Given the description of an element on the screen output the (x, y) to click on. 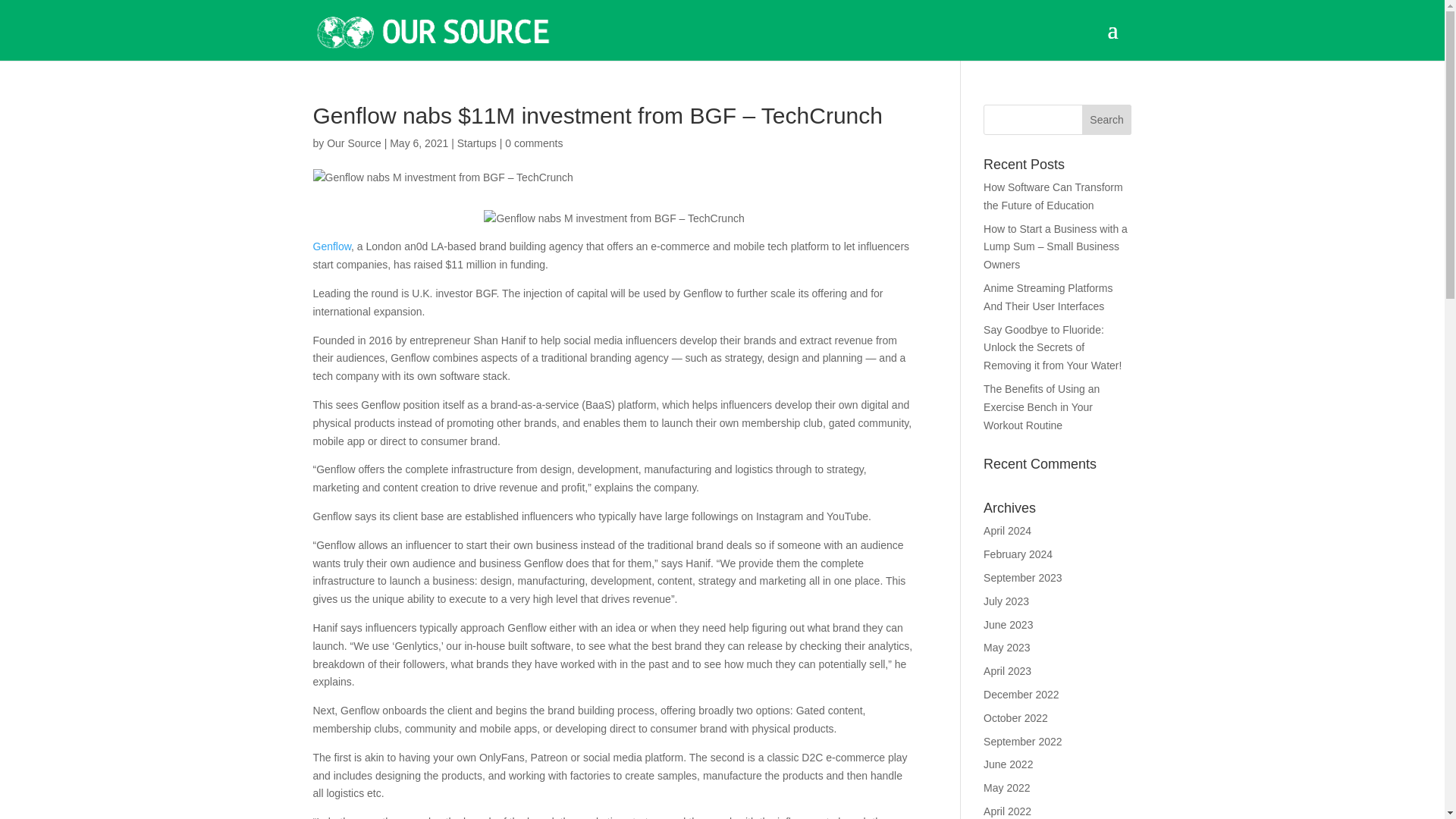
Search (1106, 119)
May 2023 (1006, 647)
February 2024 (1018, 553)
Our Source (353, 143)
December 2022 (1021, 694)
Anime Streaming Platforms And Their User Interfaces (1048, 296)
September 2023 (1023, 577)
Search (1106, 119)
0 comments (533, 143)
April 2024 (1007, 530)
April 2023 (1007, 671)
July 2023 (1006, 601)
October 2022 (1016, 717)
